Given the description of an element on the screen output the (x, y) to click on. 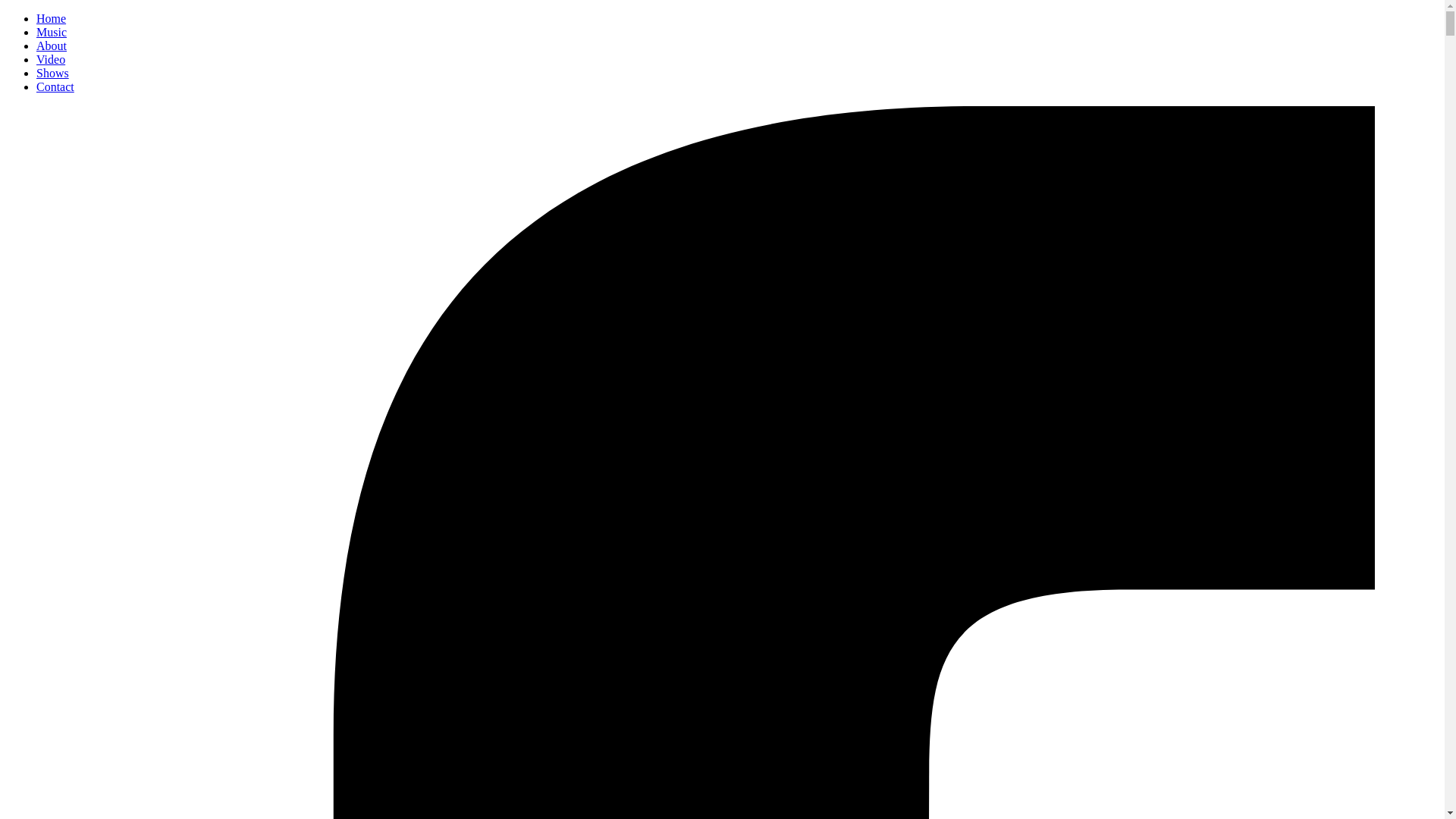
Music Element type: text (51, 31)
Shows Element type: text (52, 72)
Contact Element type: text (55, 86)
Home Element type: text (50, 18)
Video Element type: text (50, 59)
About Element type: text (51, 45)
